Given the description of an element on the screen output the (x, y) to click on. 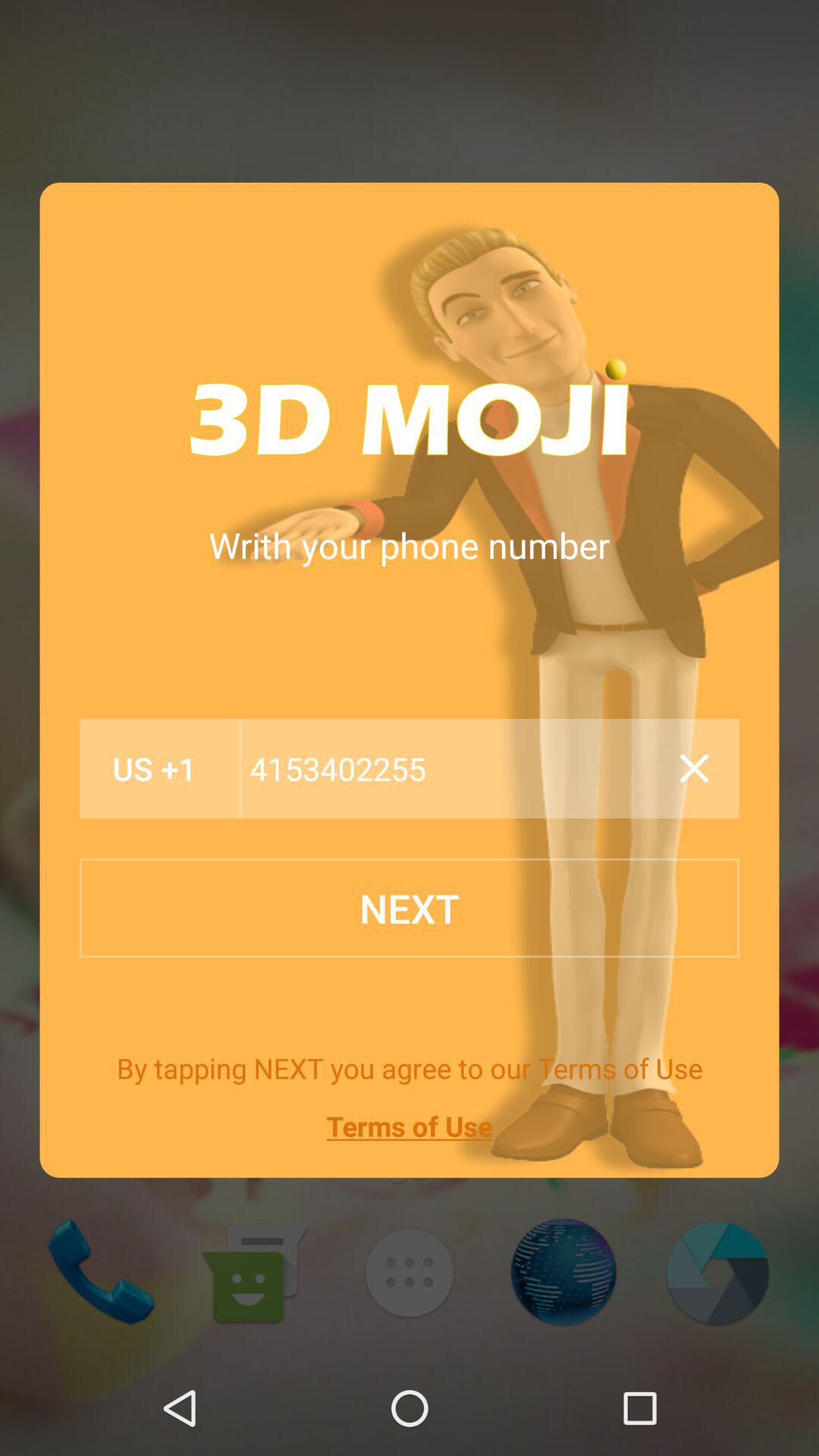
flip to the us +1 icon (154, 768)
